Given the description of an element on the screen output the (x, y) to click on. 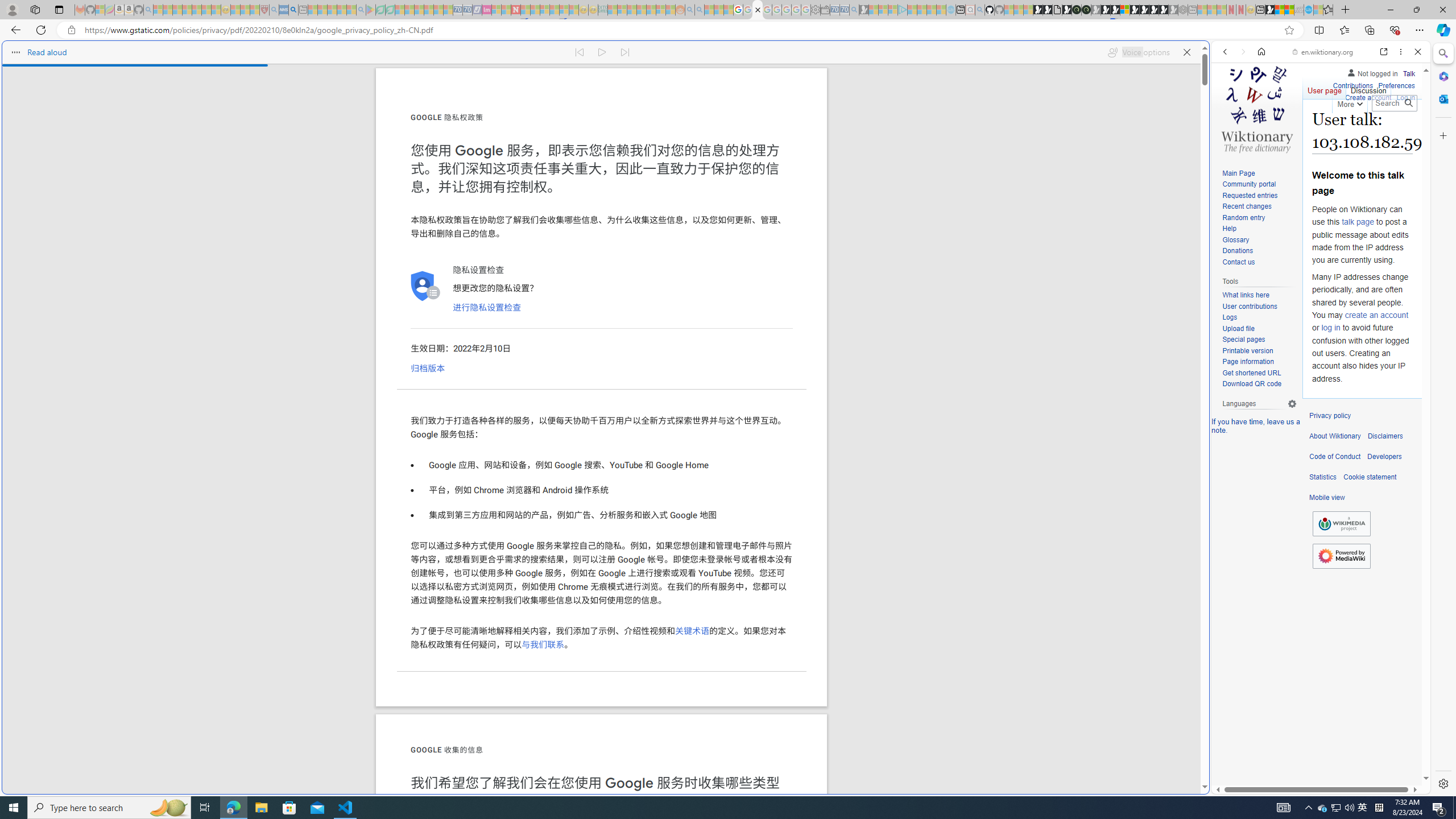
Contact us (1238, 261)
Printable version (1259, 351)
Download QR code (1251, 384)
Get shortened URL (1251, 372)
Continue to read aloud (Ctrl+Shift+U) (602, 52)
